Given the description of an element on the screen output the (x, y) to click on. 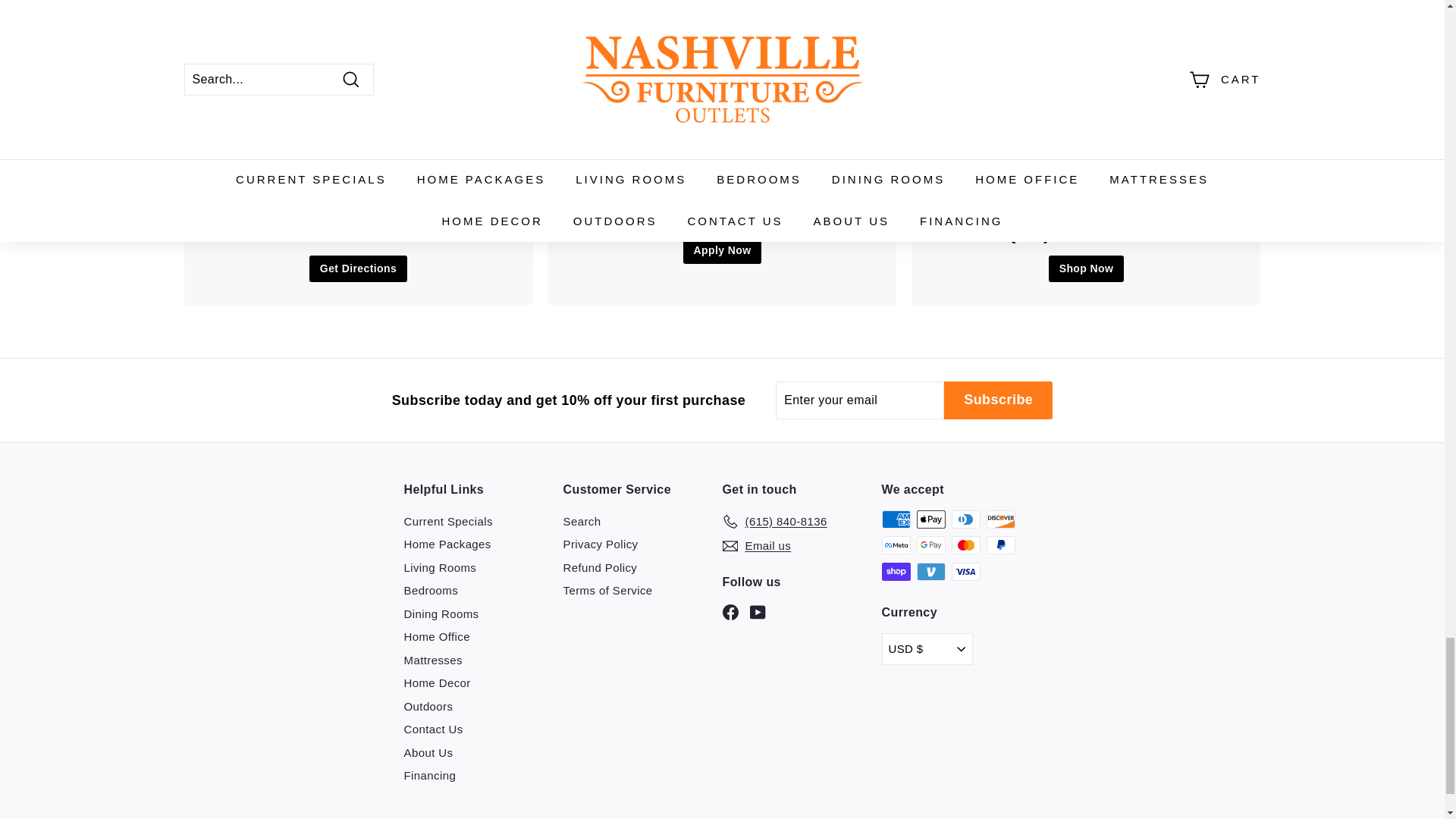
American Express (895, 519)
Apple Pay (929, 519)
Diners Club (964, 519)
Discover (999, 519)
